Given the description of an element on the screen output the (x, y) to click on. 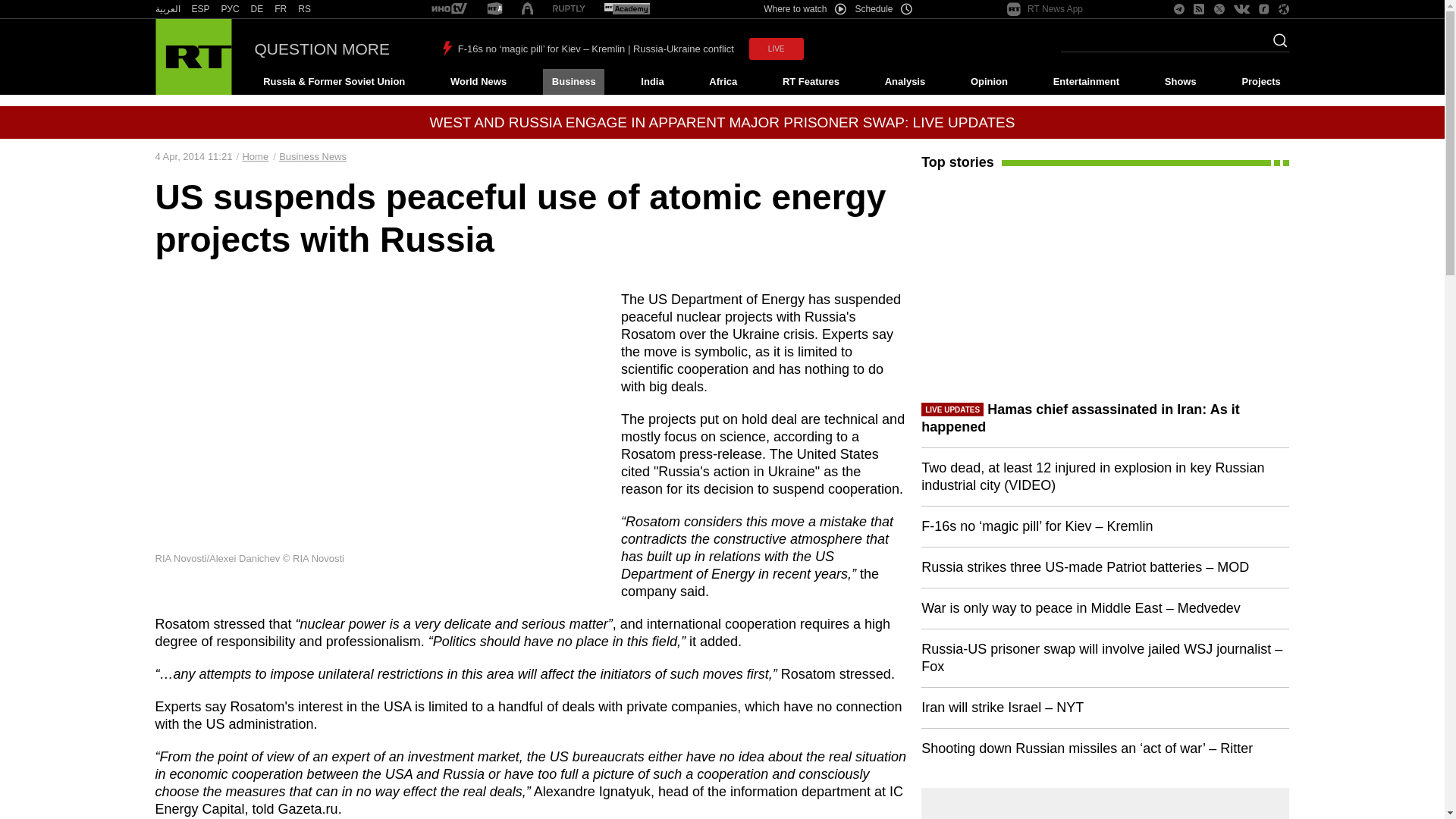
Analysis (905, 81)
RT  (199, 9)
RT  (280, 9)
Schedule (884, 9)
RT  (166, 9)
DE (256, 9)
Africa (722, 81)
RT  (569, 8)
RS (304, 9)
Opinion (988, 81)
RT News App (1045, 9)
LIVE (776, 48)
Projects (1261, 81)
Search (1276, 44)
RT  (448, 9)
